Given the description of an element on the screen output the (x, y) to click on. 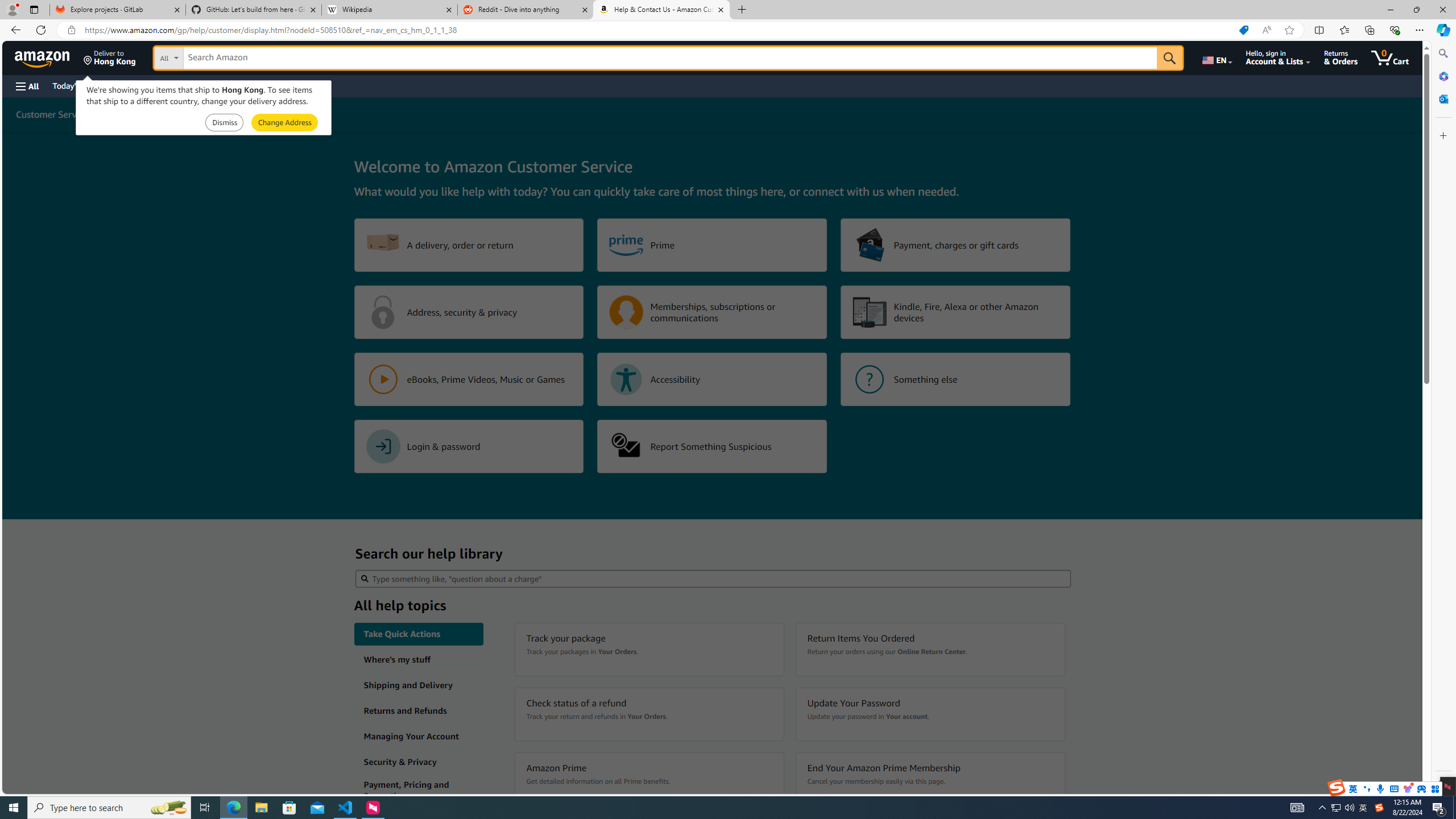
Track your package Track your packages in Your Orders. (648, 649)
Deliver to Hong Kong (109, 57)
Something else (955, 379)
Open Menu (26, 86)
Today's Deals (76, 85)
Class: help-topics (418, 790)
Help & Contact Us - Amazon Customer Service (660, 9)
Login & password (468, 446)
Gift Cards (251, 85)
